Given the description of an element on the screen output the (x, y) to click on. 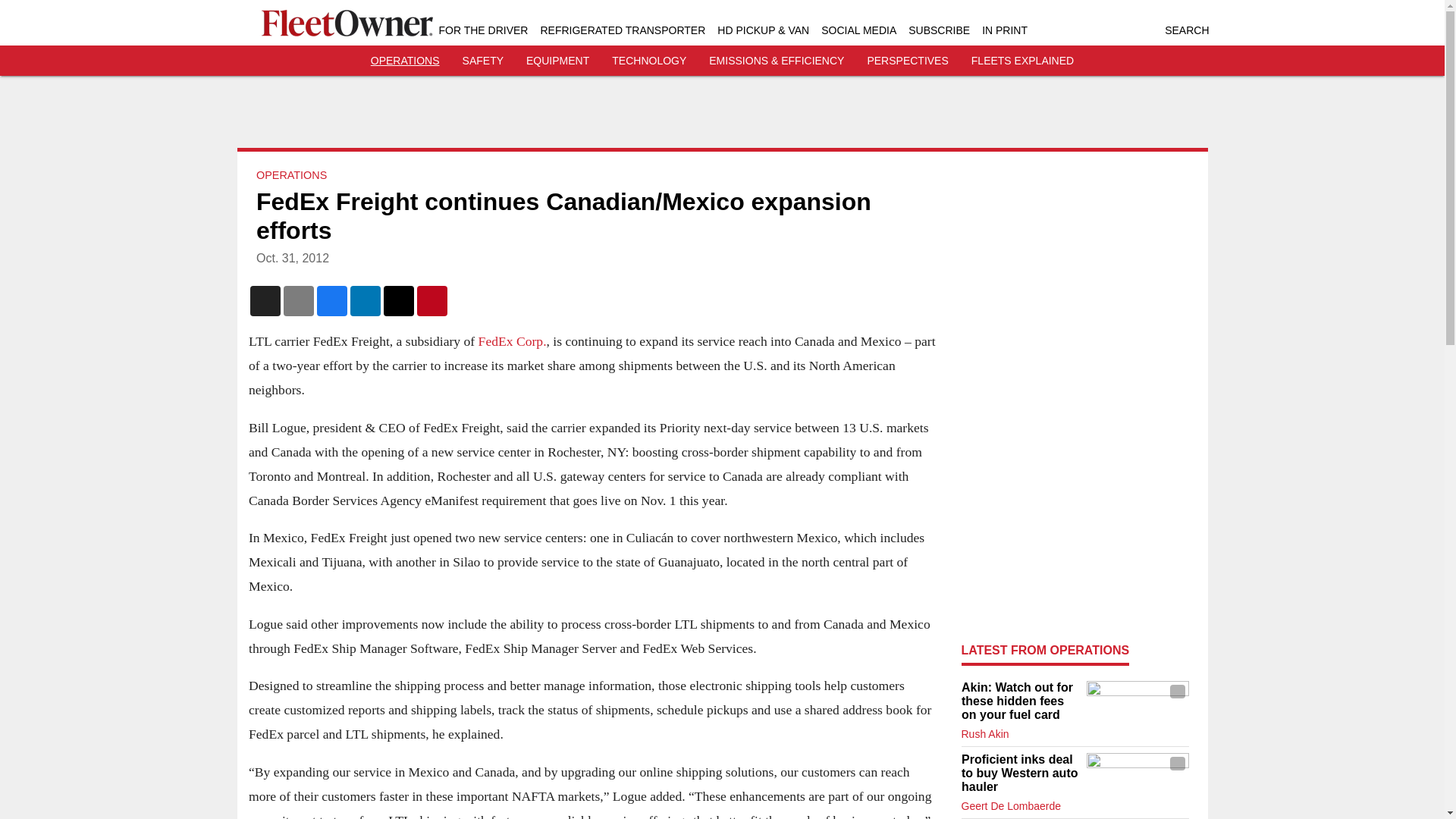
IN PRINT (1004, 30)
Akin: Watch out for these hidden fees on your fuel card (1019, 700)
PERSPECTIVES (906, 60)
SAFETY (483, 60)
OPERATIONS (405, 60)
EQUIPMENT (557, 60)
SOCIAL MEDIA (858, 30)
FLEETS EXPLAINED (1022, 60)
FOR THE DRIVER (482, 30)
OPERATIONS (291, 174)
